Given the description of an element on the screen output the (x, y) to click on. 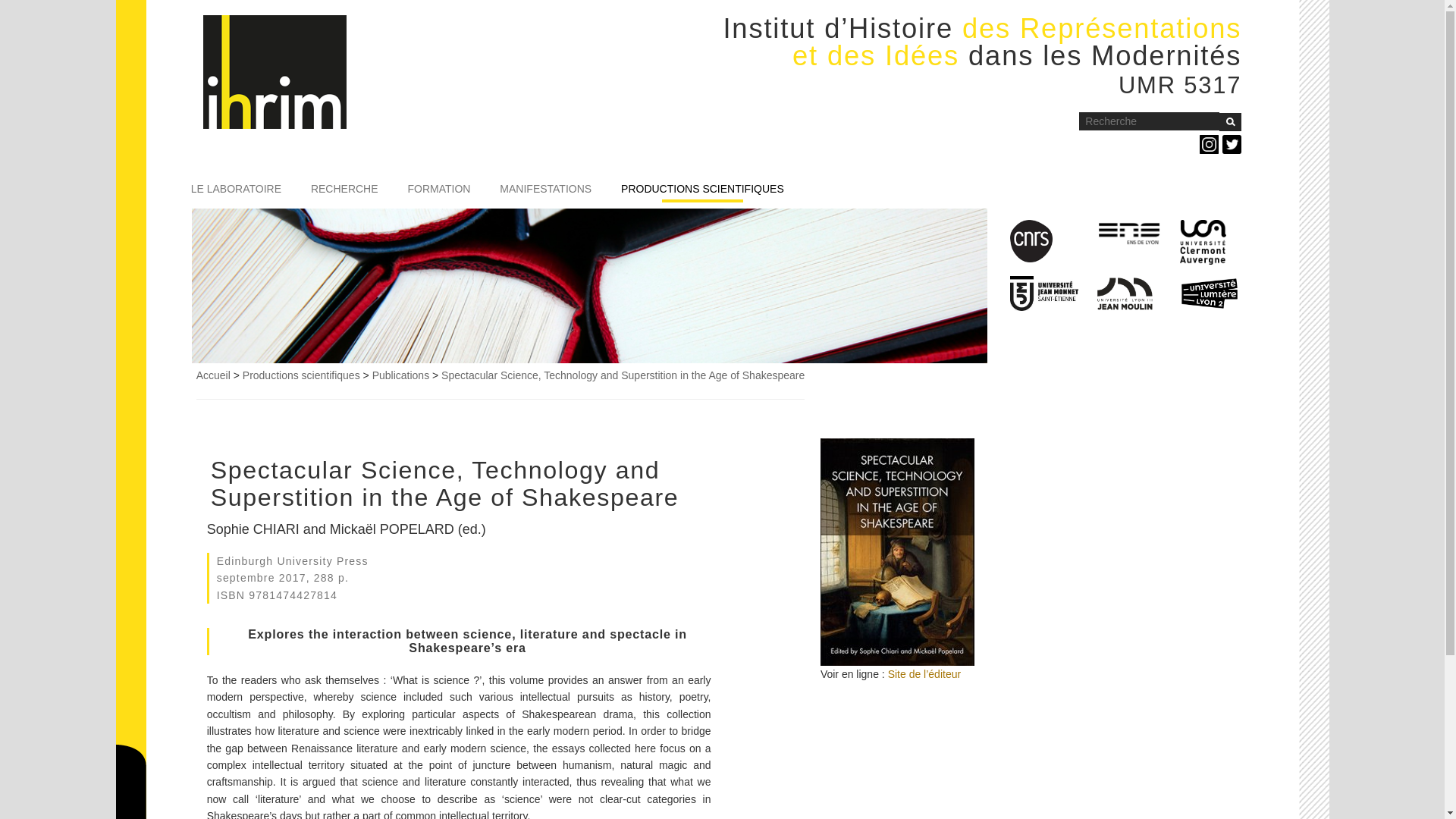
Centre National de la Recherche Scientifique (1031, 239)
RECHERCHE (344, 192)
PRODUCTIONS SCIENTIFIQUES (702, 192)
Productions scientifiques (301, 375)
FORMATION (438, 192)
Accueil (213, 375)
LE LABORATOIRE (235, 192)
Accueil (274, 63)
MANIFESTATIONS (545, 192)
